Given the description of an element on the screen output the (x, y) to click on. 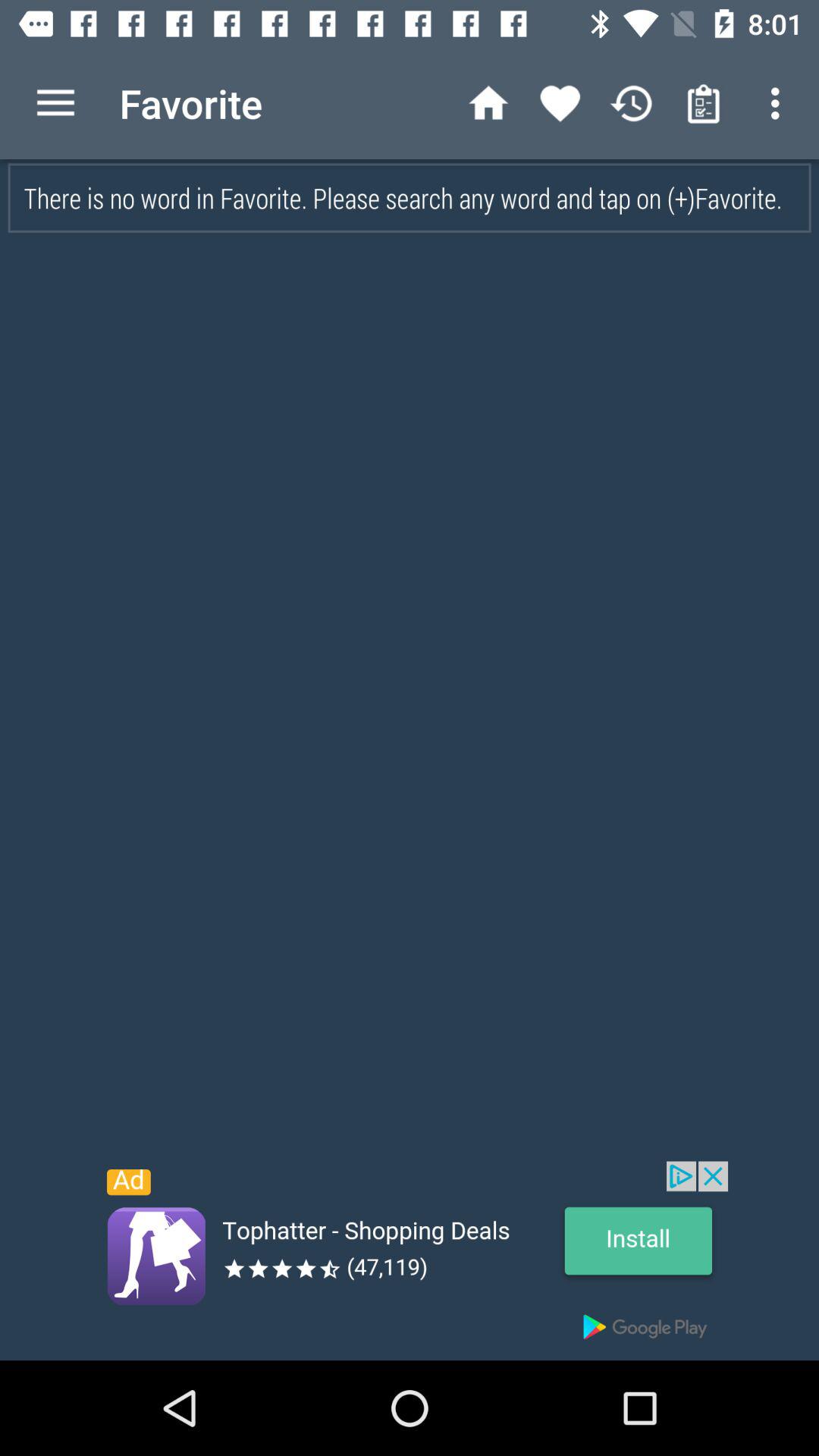
open advertisement (409, 1260)
